Given the description of an element on the screen output the (x, y) to click on. 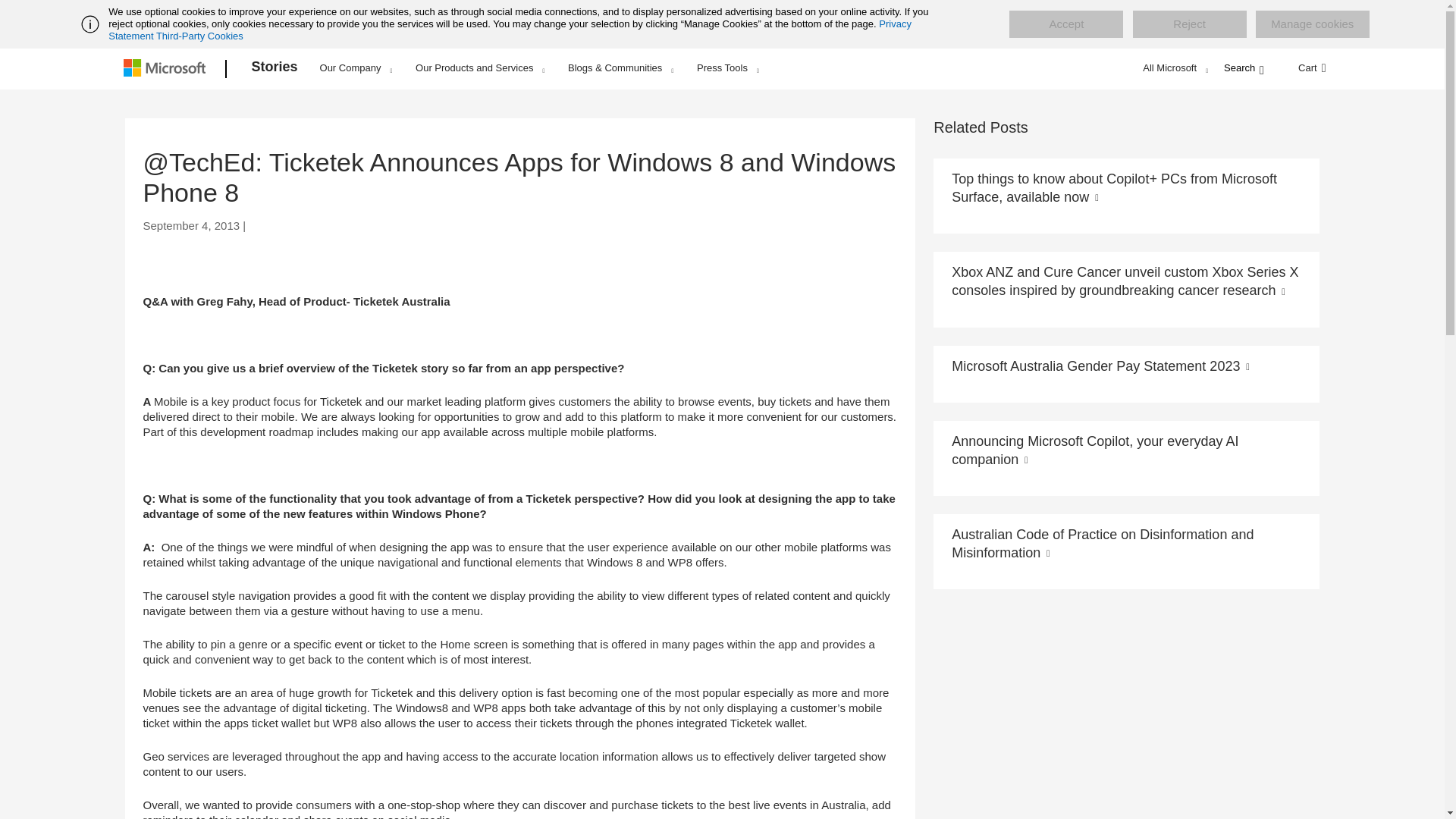
Accept (1065, 23)
Our Company (355, 67)
Third-Party Cookies (199, 35)
Manage cookies (1312, 23)
Reject (1189, 23)
Stories (274, 69)
Privacy Statement (509, 29)
Our Products and Services (479, 67)
Microsoft (167, 69)
